Given the description of an element on the screen output the (x, y) to click on. 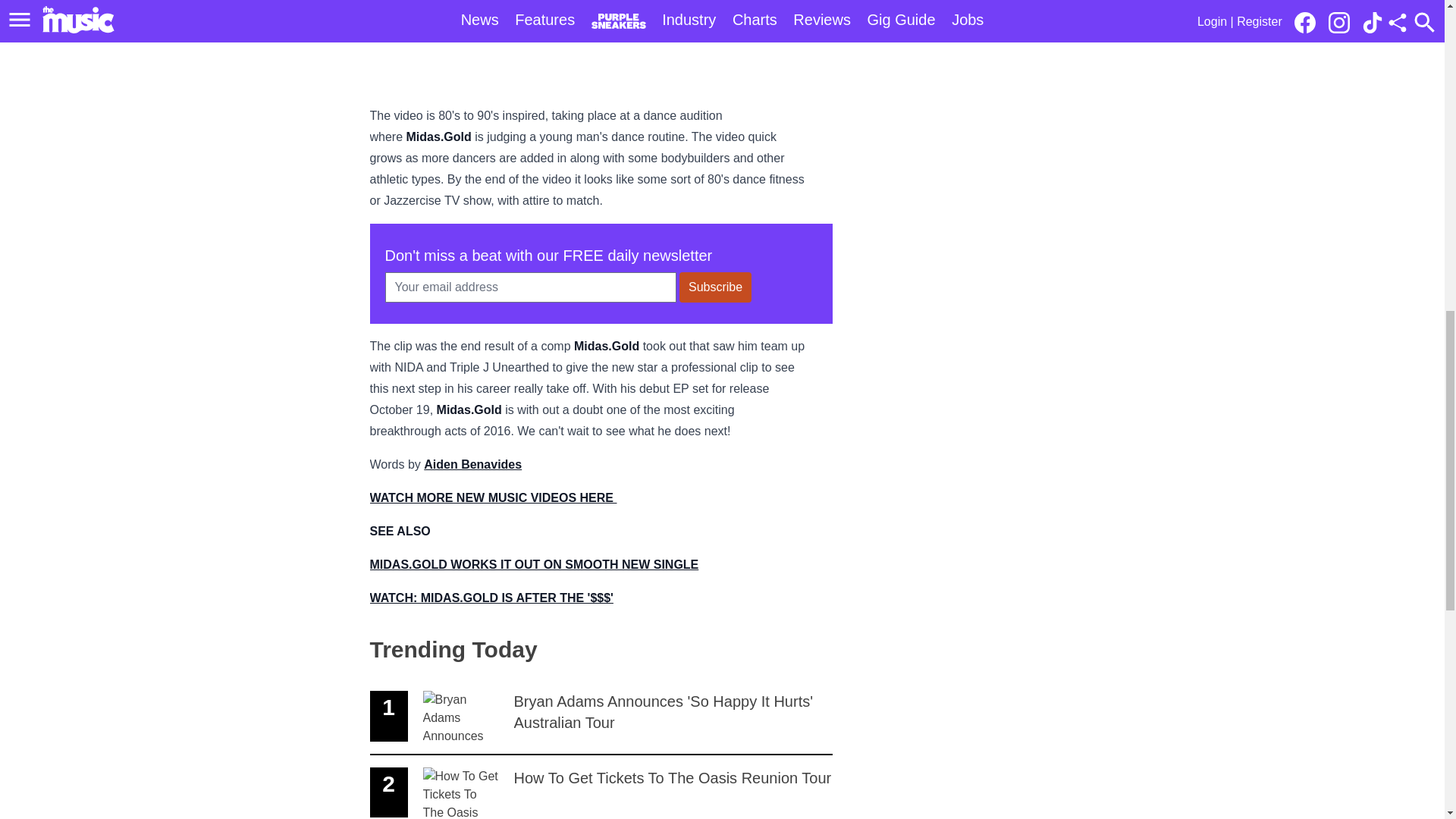
Aiden Benavides (472, 463)
WATCH MORE NEW MUSIC VIDEOS HERE  (493, 497)
Subscribe (600, 787)
MIDAS.GOLD WORKS IT OUT ON SMOOTH NEW SINGLE (715, 286)
